Given the description of an element on the screen output the (x, y) to click on. 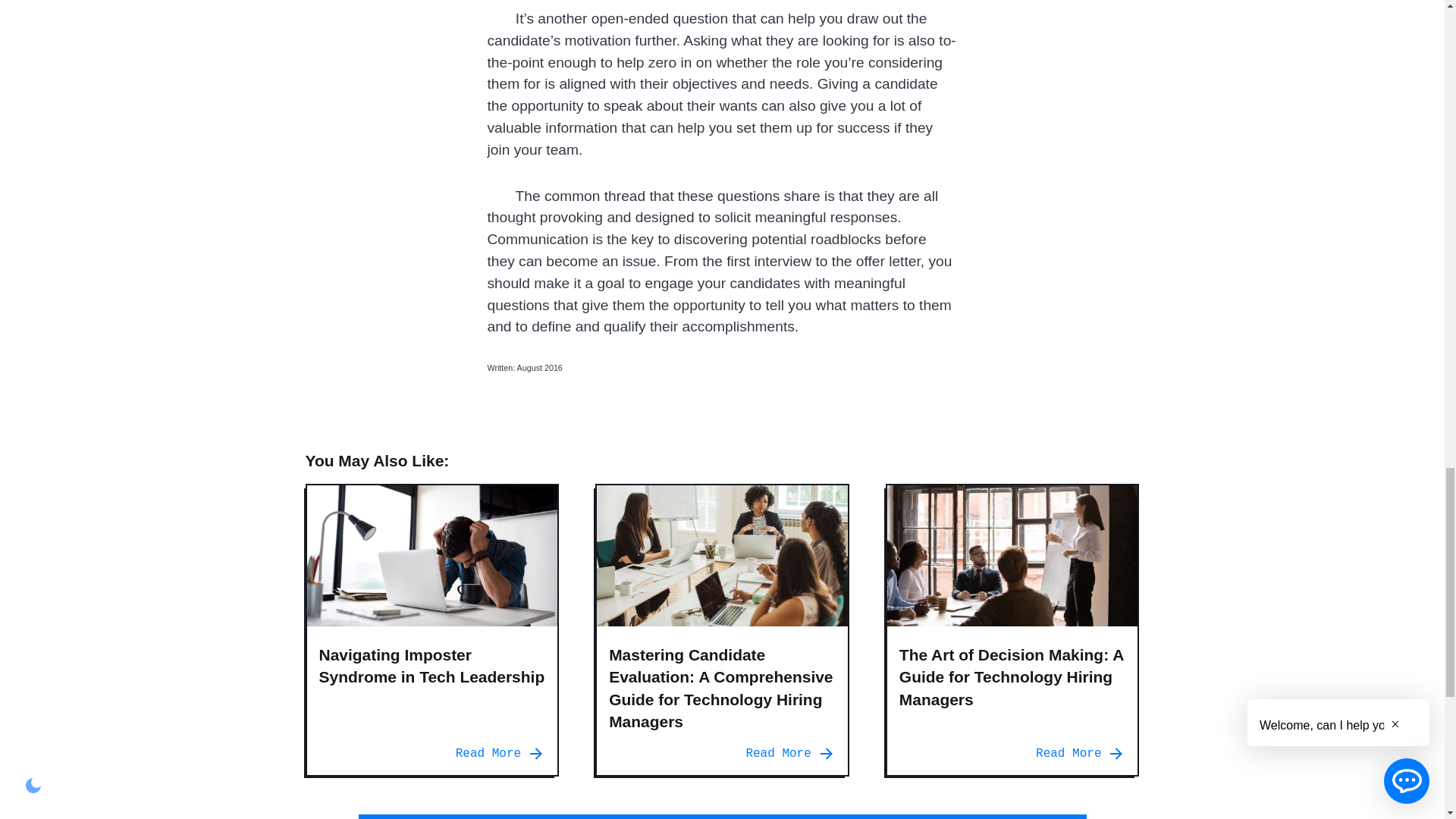
Read More (499, 753)
Read More (1080, 753)
Read More (789, 753)
